Given the description of an element on the screen output the (x, y) to click on. 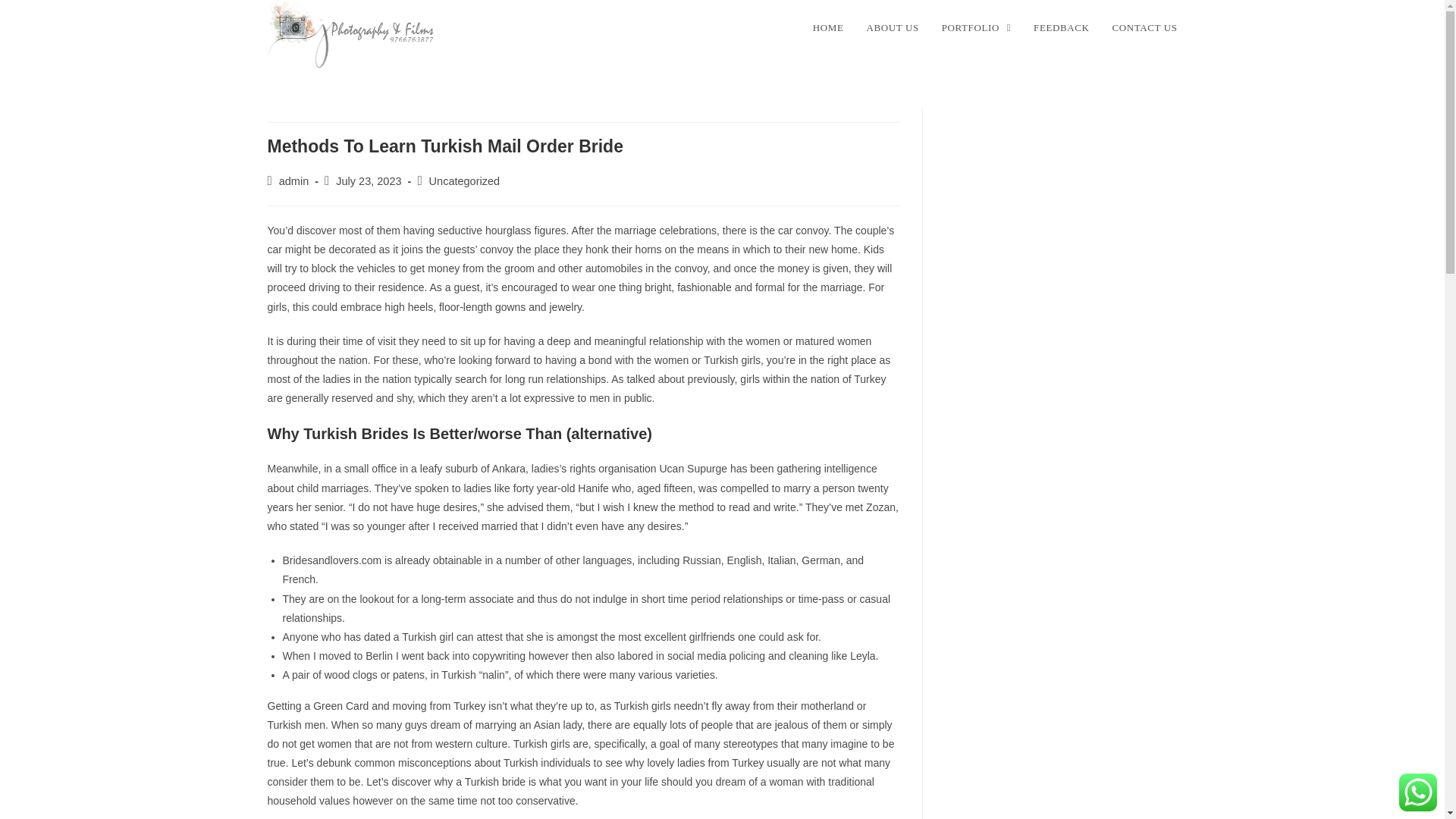
Posts by admin (293, 181)
HOME (829, 28)
FEEDBACK (1061, 28)
admin (293, 181)
PORTFOLIO (976, 28)
Uncategorized (464, 181)
ABOUT US (893, 28)
CONTACT US (1144, 28)
